Given the description of an element on the screen output the (x, y) to click on. 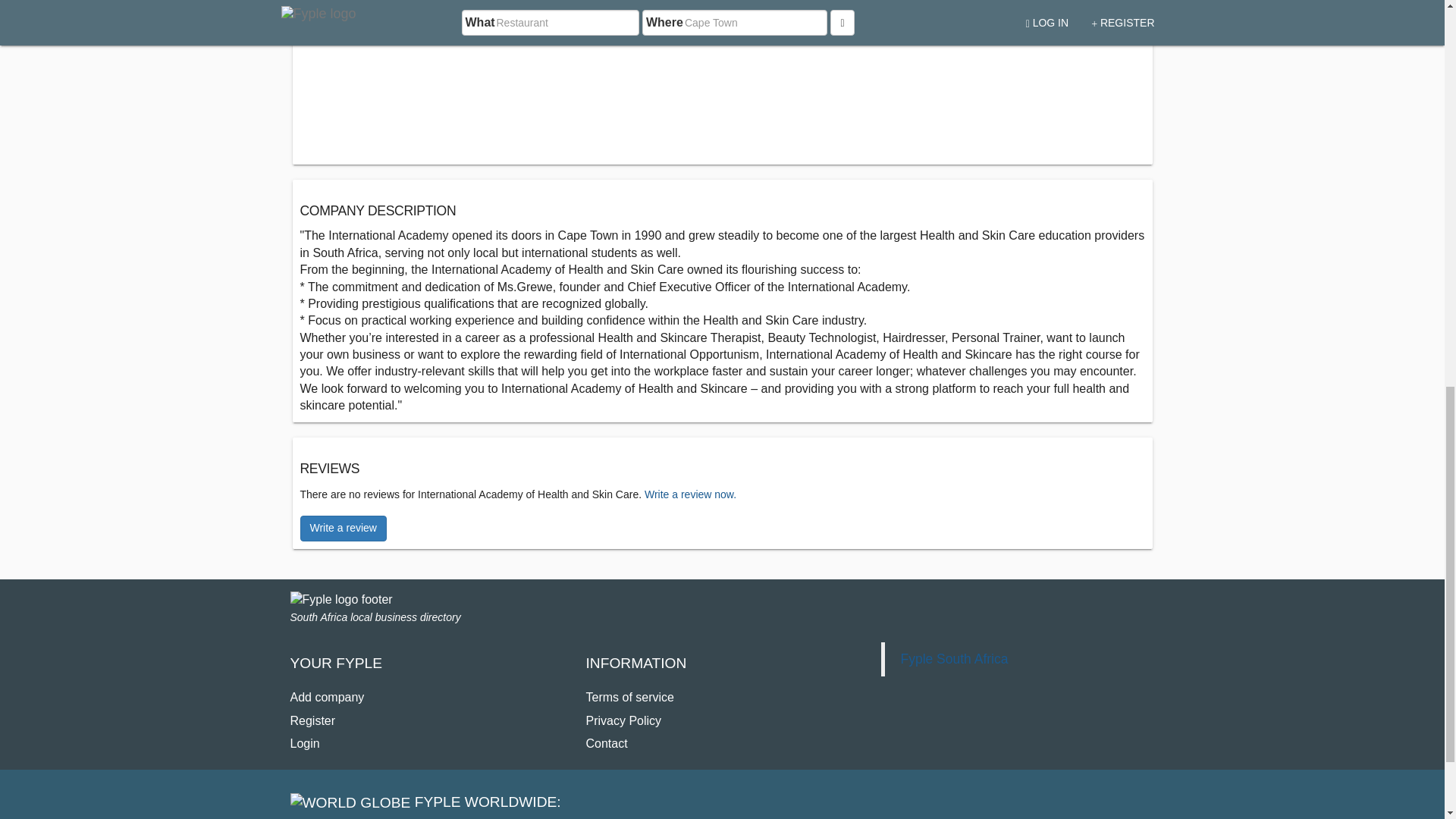
Contact (606, 743)
Login (303, 743)
Terms of service (628, 697)
Privacy Policy (623, 720)
Write a review (343, 528)
Write a review now. (690, 494)
Add company (326, 697)
Register (311, 720)
Fyple South Africa (953, 658)
